Given the description of an element on the screen output the (x, y) to click on. 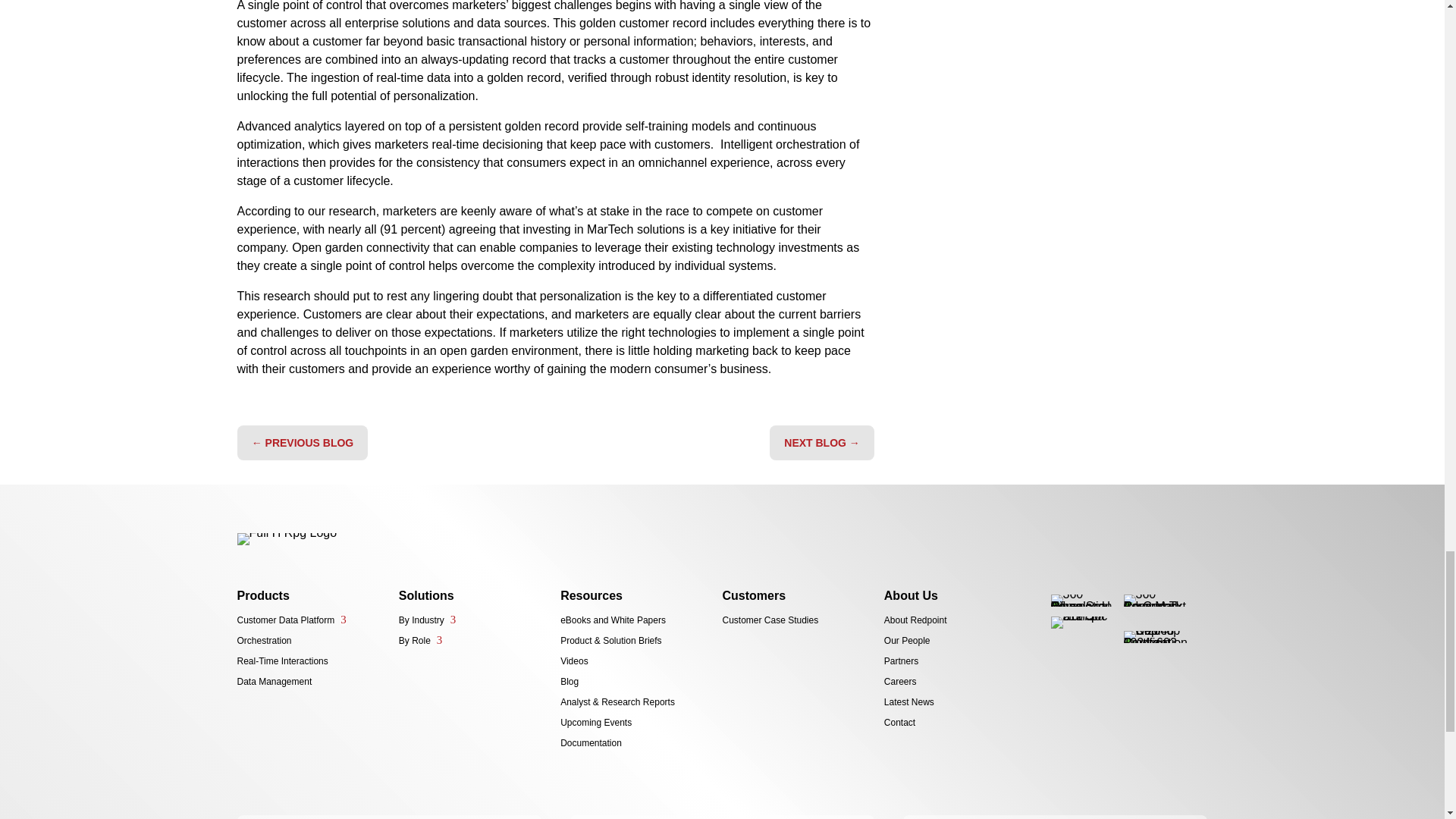
21972 312 Soc Noncpa (1082, 622)
360 Advanced Compass Rose Mark Iso Cert Txt (1155, 600)
Full H Rpg Logo (285, 539)
360 Advanced Hipaa Seal Of Completion 2 (1082, 600)
Dl2048 Cdpi Realcdp Certification Program 1024x603 (1155, 636)
